Given the description of an element on the screen output the (x, y) to click on. 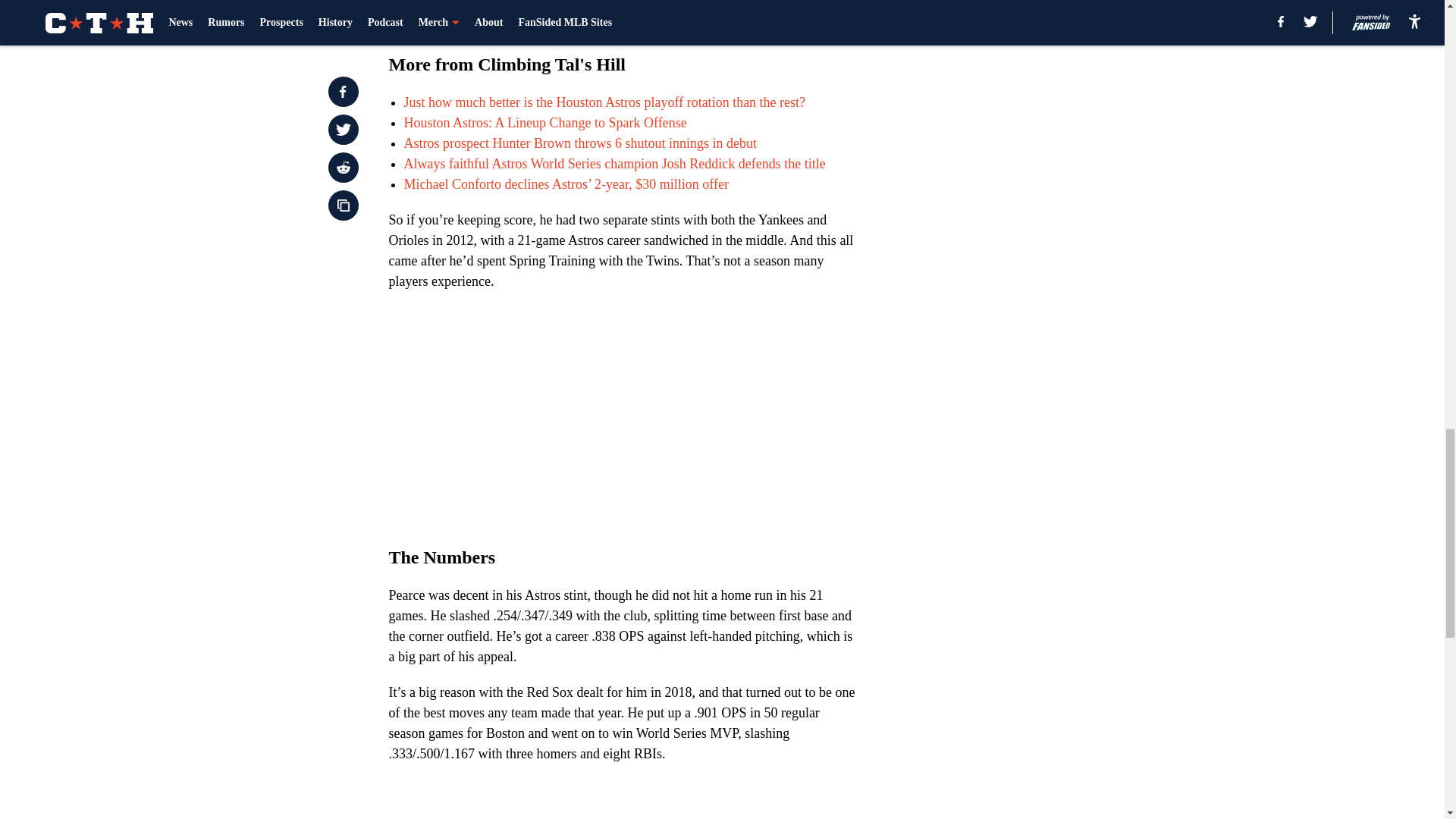
Houston Astros: A Lineup Change to Spark Offense (544, 122)
